Given the description of an element on the screen output the (x, y) to click on. 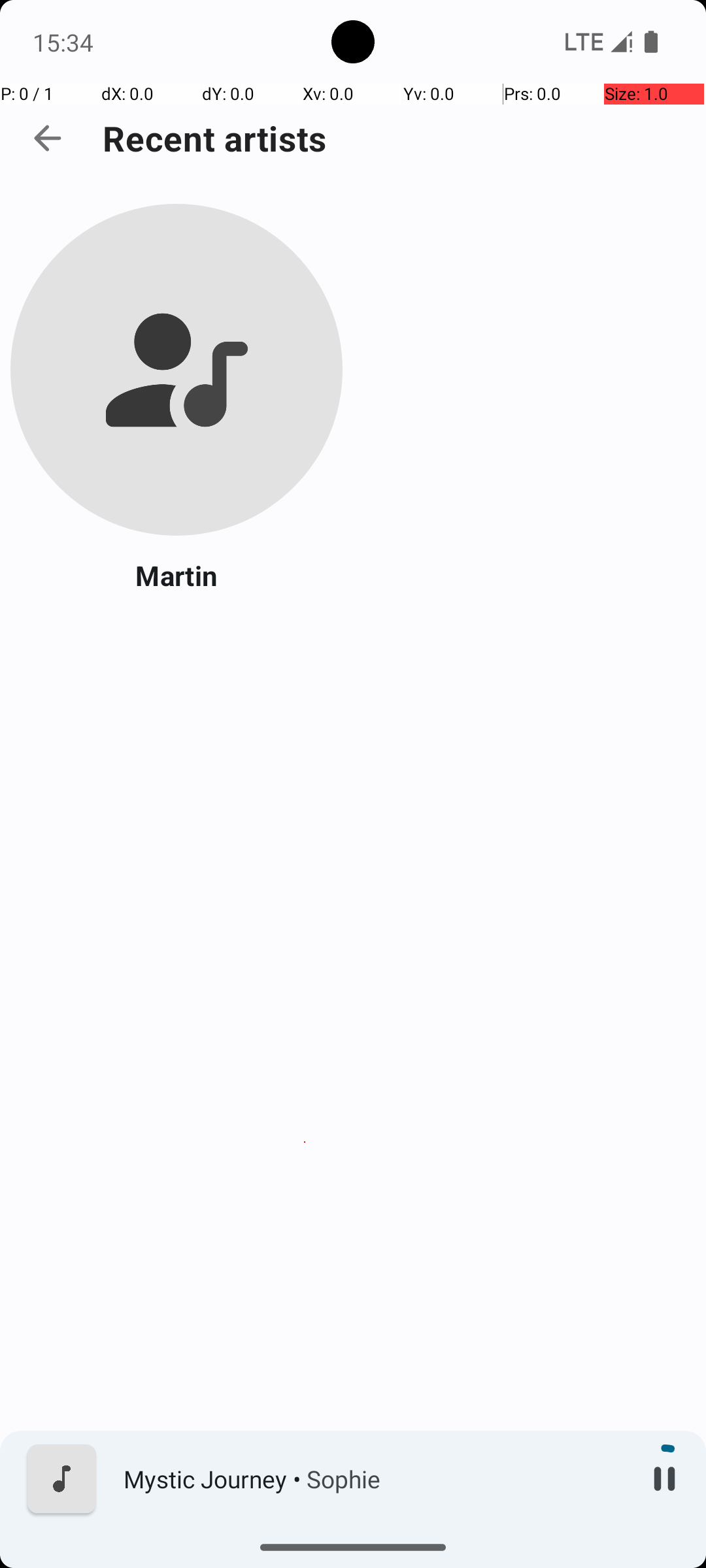
Recent artists Element type: android.widget.TextView (214, 137)
Mystic Journey • Sophie Element type: android.widget.TextView (372, 1478)
Martin Element type: android.widget.TextView (175, 574)
